Given the description of an element on the screen output the (x, y) to click on. 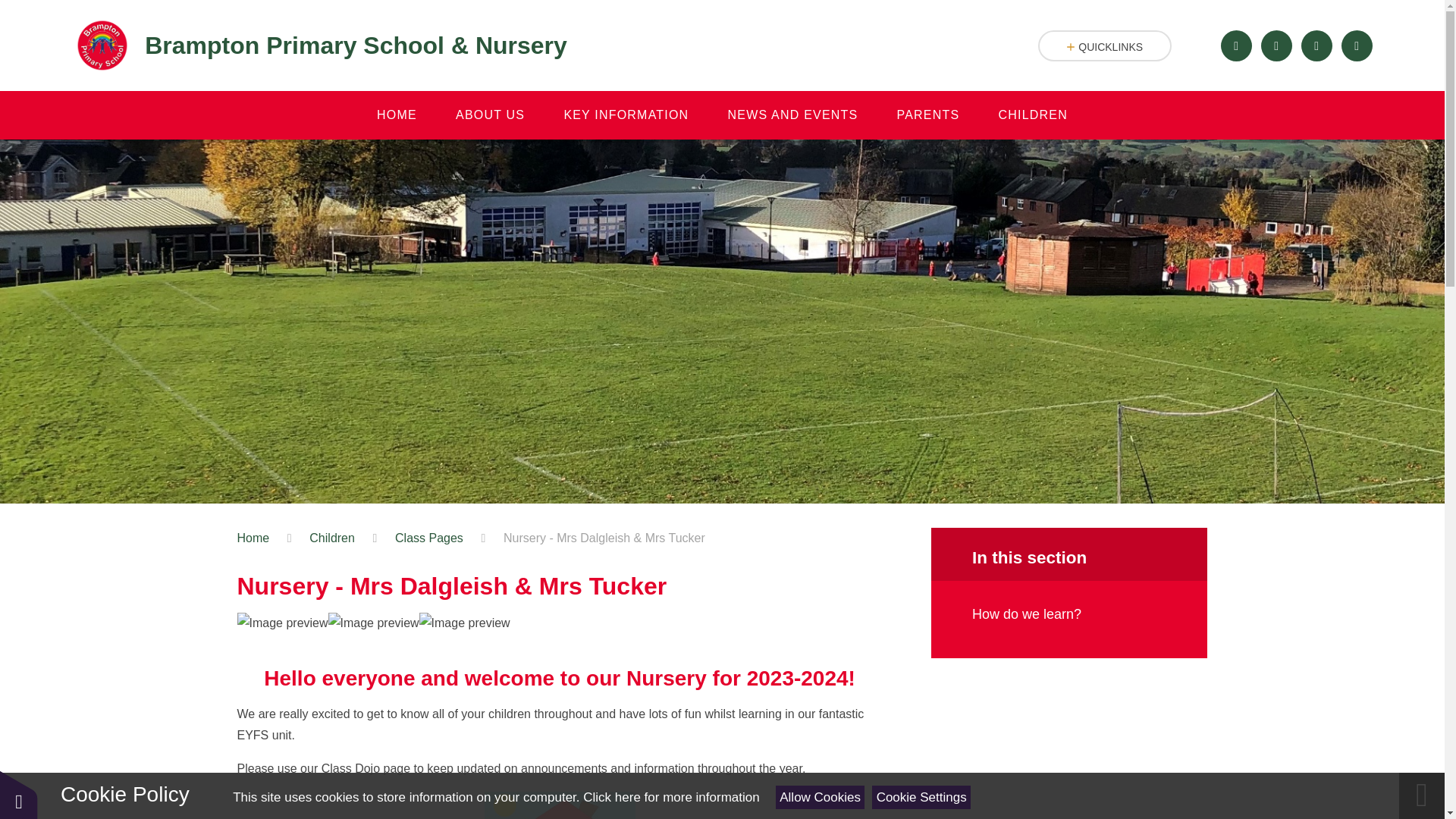
See cookie policy (670, 797)
Allow Cookies (820, 797)
Cookie Settings (18, 794)
HOME (395, 114)
Cookie Settings (921, 797)
KEY INFORMATION (625, 114)
ABOUT US (489, 114)
